Given the description of an element on the screen output the (x, y) to click on. 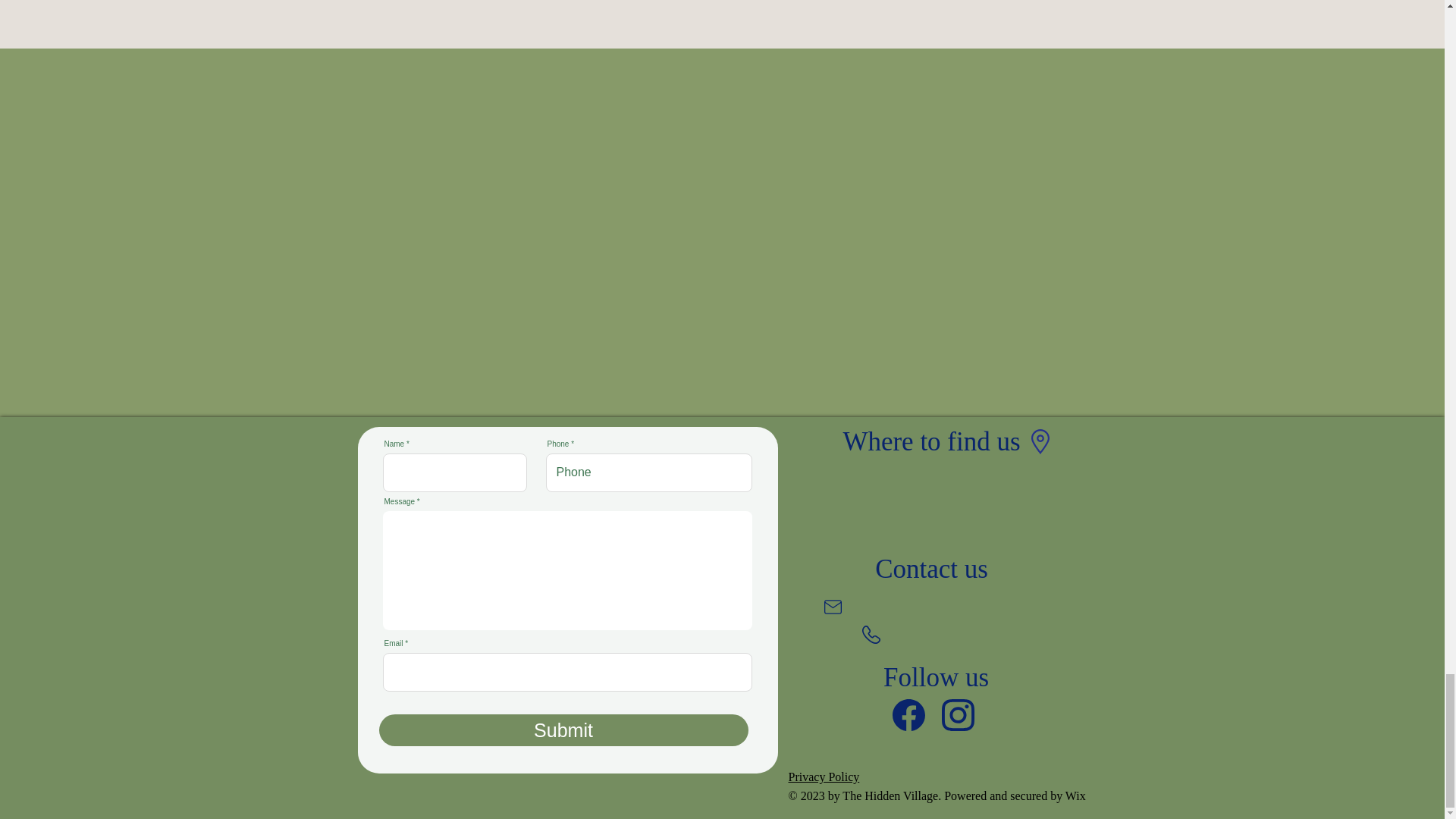
Submit (563, 730)
Privacy Policy (824, 776)
